Given the description of an element on the screen output the (x, y) to click on. 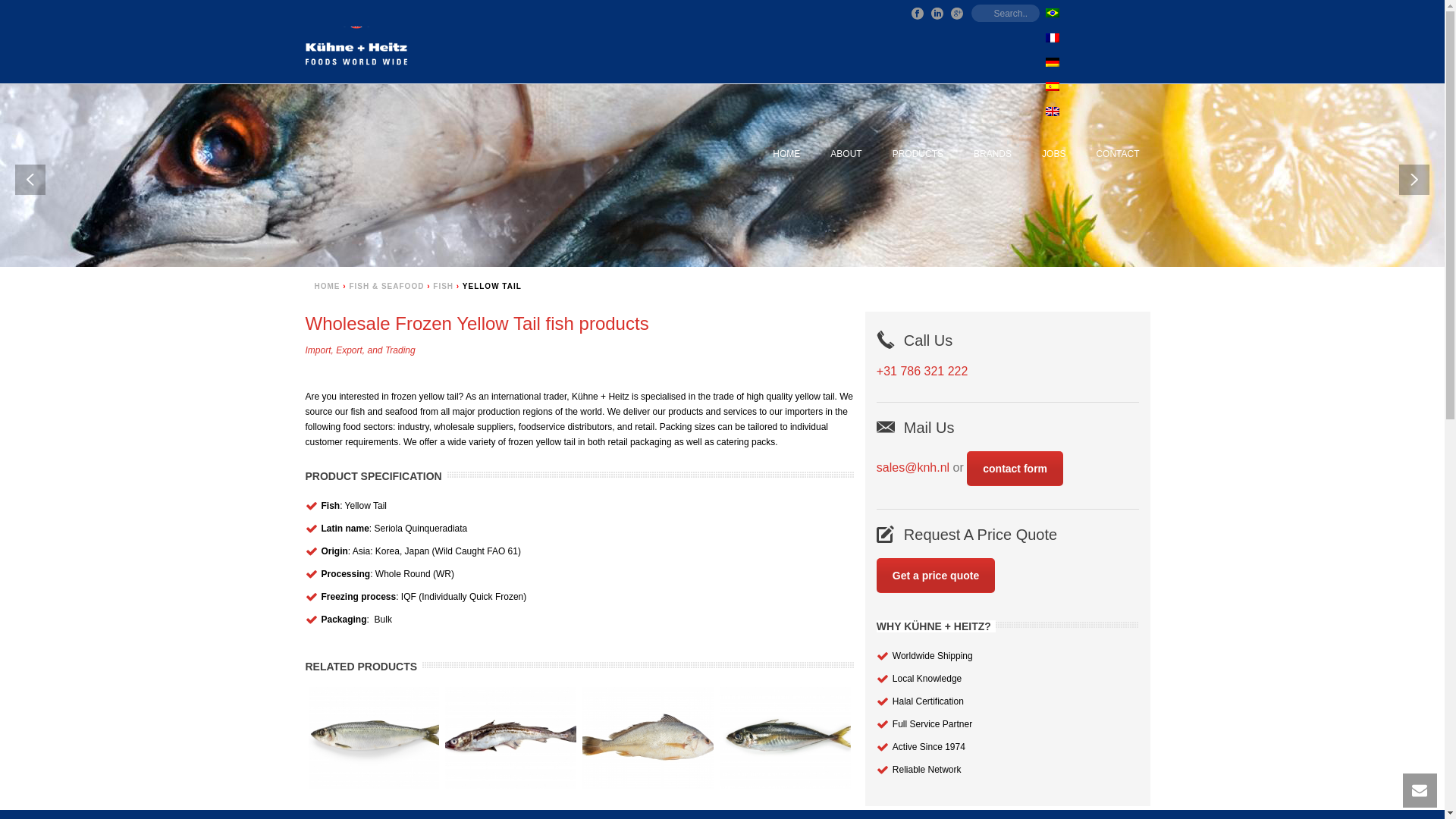
PRODUCTS (917, 154)
JOBS (1053, 154)
Deutsch (1051, 61)
HOME (786, 154)
Croaker fish (647, 737)
Price quote form (935, 574)
PRODUCTS (917, 154)
ABOUT (845, 154)
CONTACT (1117, 154)
Horse Mackerel (784, 737)
Alaska Pollock (510, 737)
ABOUT (845, 154)
Foods Worldwide (355, 54)
English (1051, 111)
Herring (373, 737)
